Given the description of an element on the screen output the (x, y) to click on. 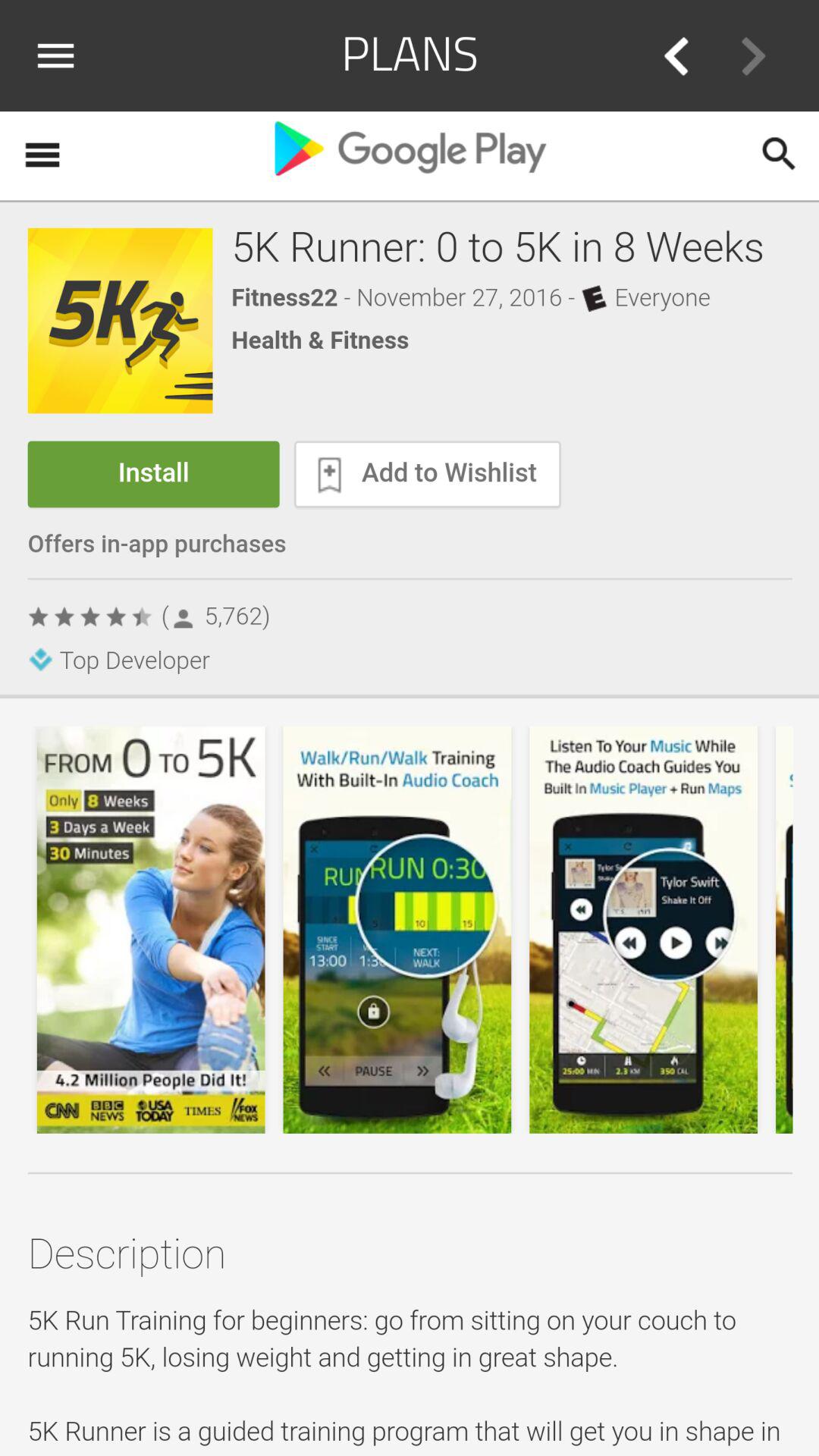
open menu (61, 55)
